Given the description of an element on the screen output the (x, y) to click on. 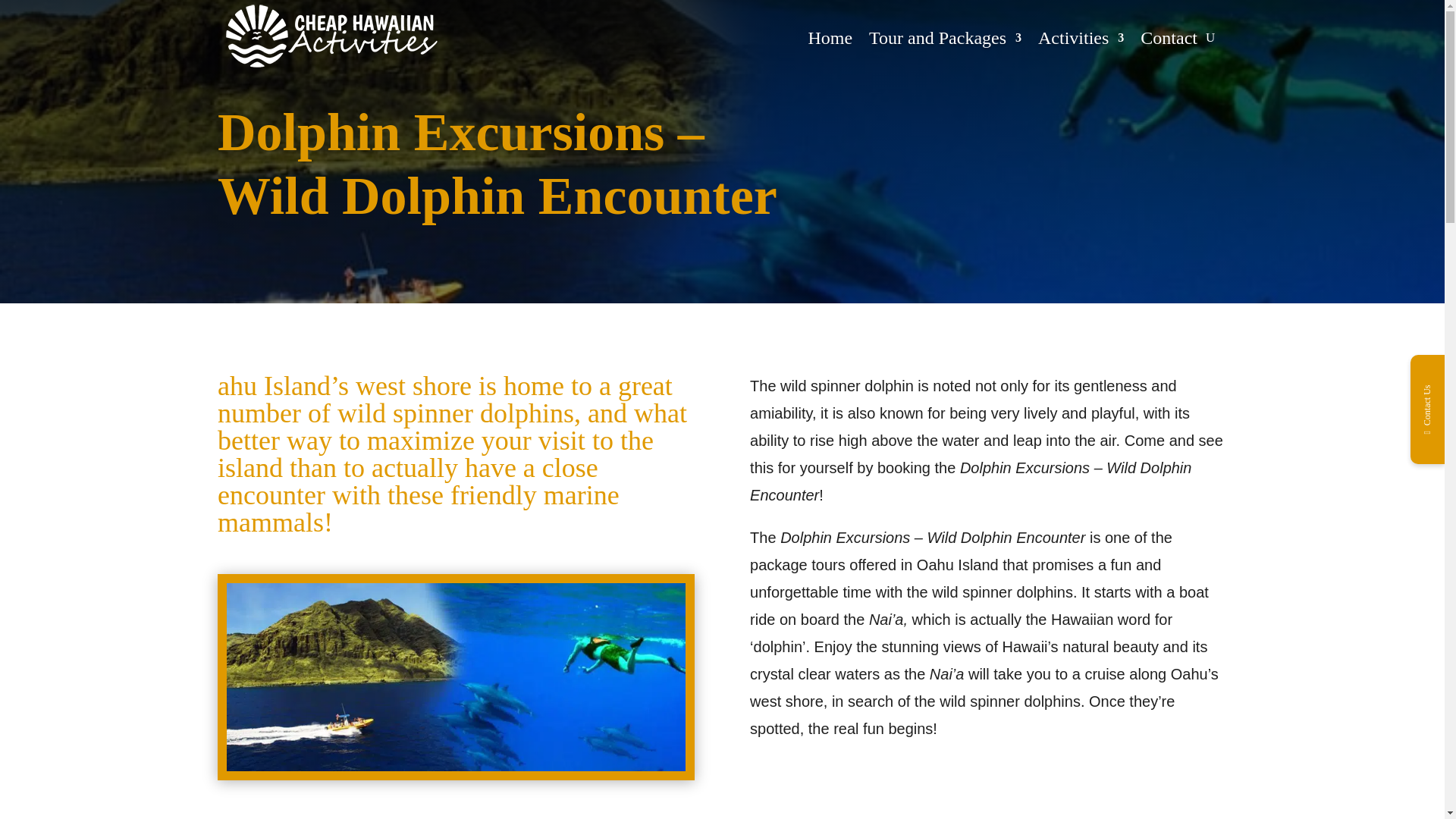
Activities (1081, 38)
Wild-Dolphin-Encounters-on-Oahu (456, 765)
Tour and Packages (945, 38)
